Given the description of an element on the screen output the (x, y) to click on. 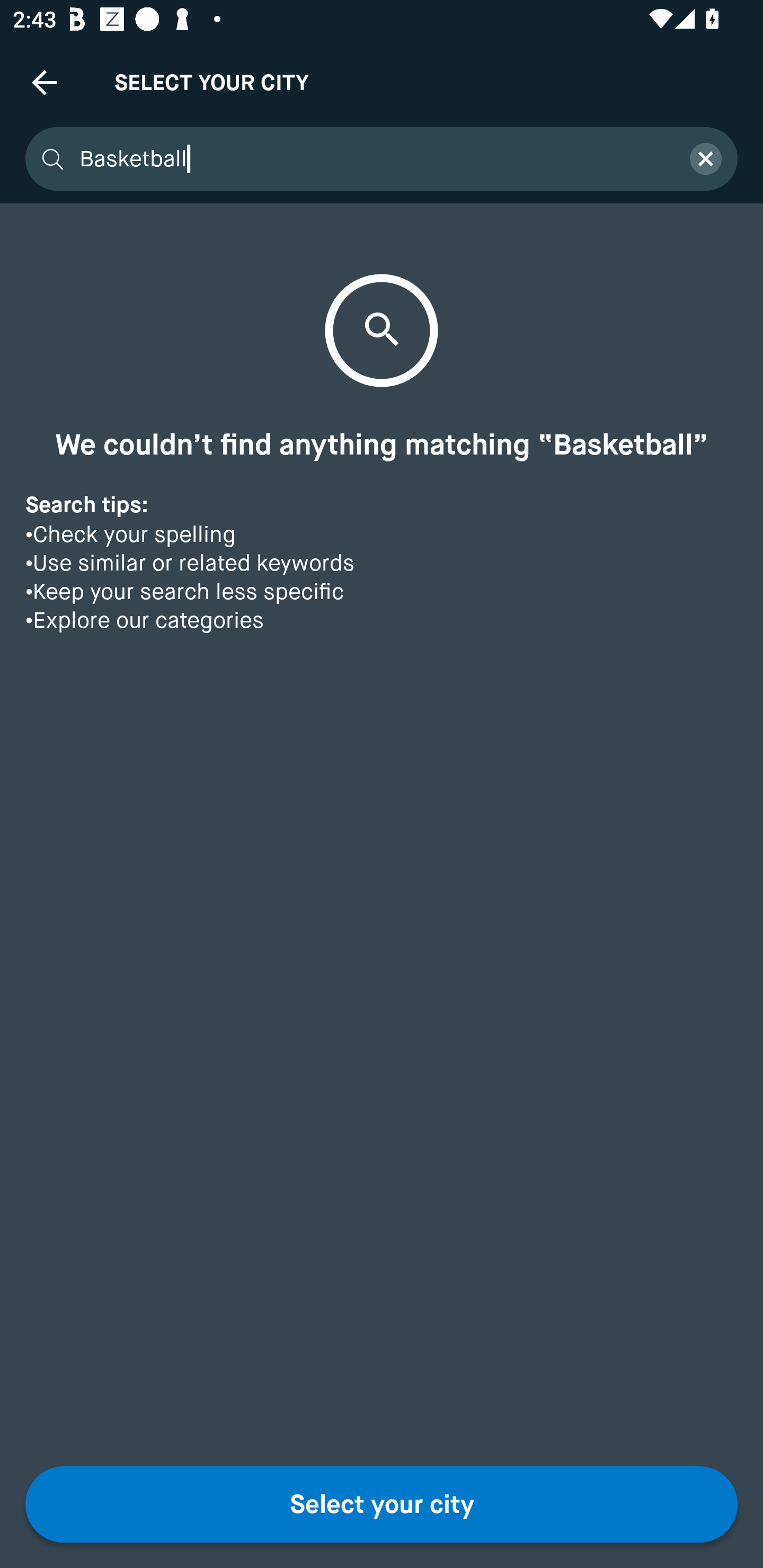
Navigate up (44, 82)
Basketball (373, 159)
Select your city (381, 1504)
